Given the description of an element on the screen output the (x, y) to click on. 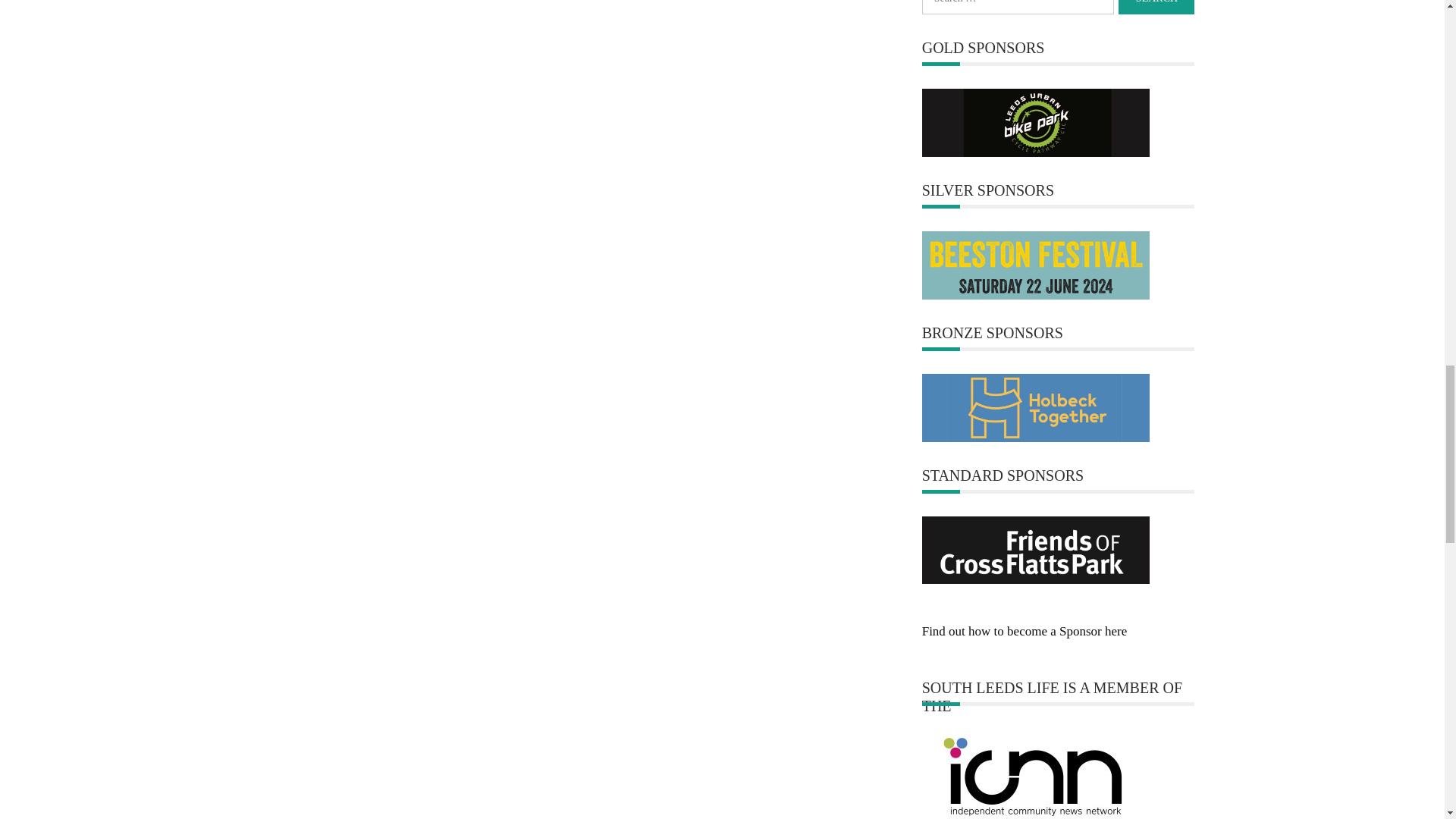
Search (1155, 7)
Search (1155, 7)
